Given the description of an element on the screen output the (x, y) to click on. 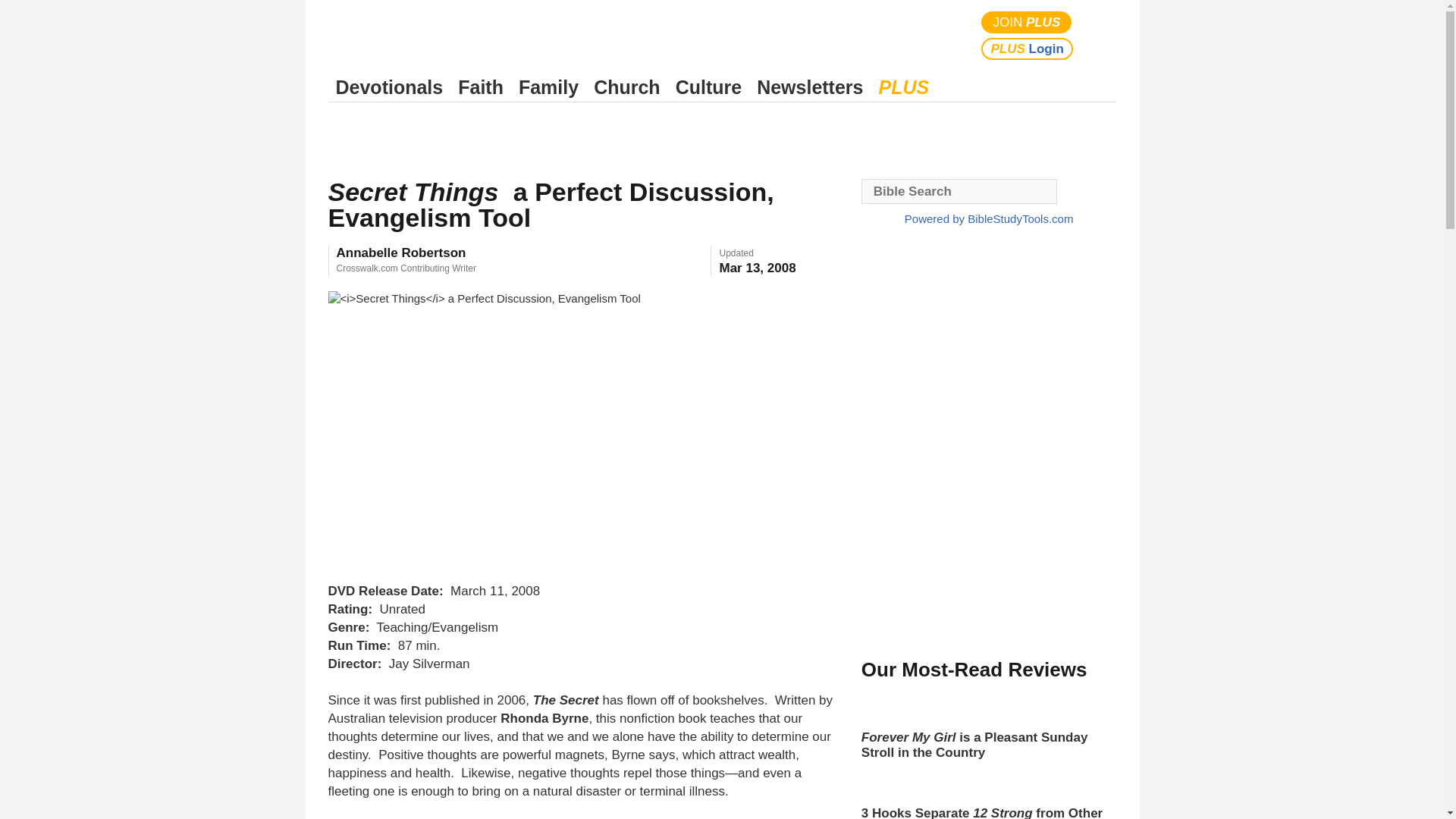
Faith (481, 87)
Family (548, 87)
Search (1101, 34)
JOIN PLUS (1026, 22)
PLUS Login (1026, 48)
Join Plus (1026, 22)
Devotionals (389, 87)
Plus Login (1026, 48)
